Given the description of an element on the screen output the (x, y) to click on. 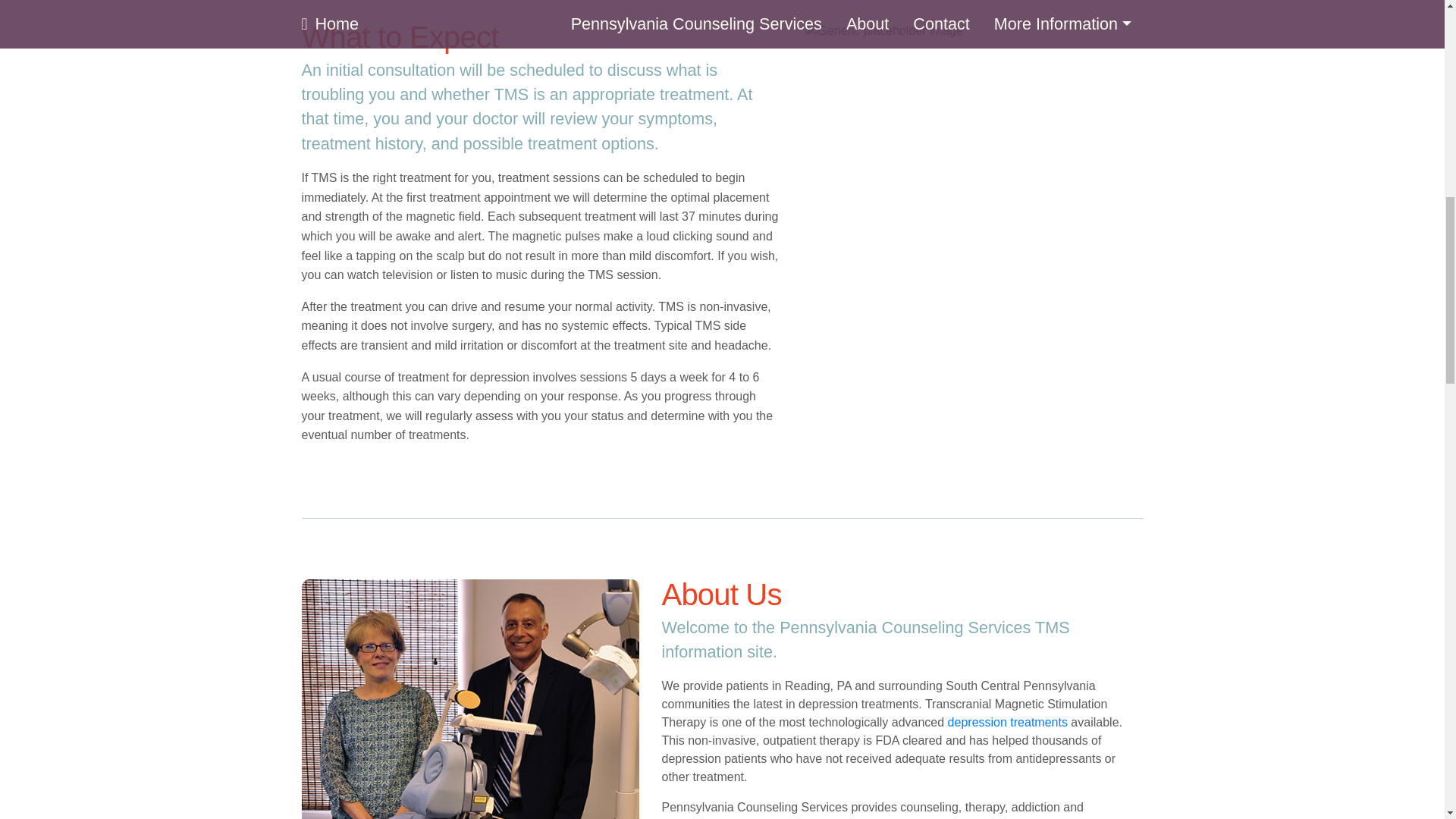
depression treatments (1007, 721)
